Given the description of an element on the screen output the (x, y) to click on. 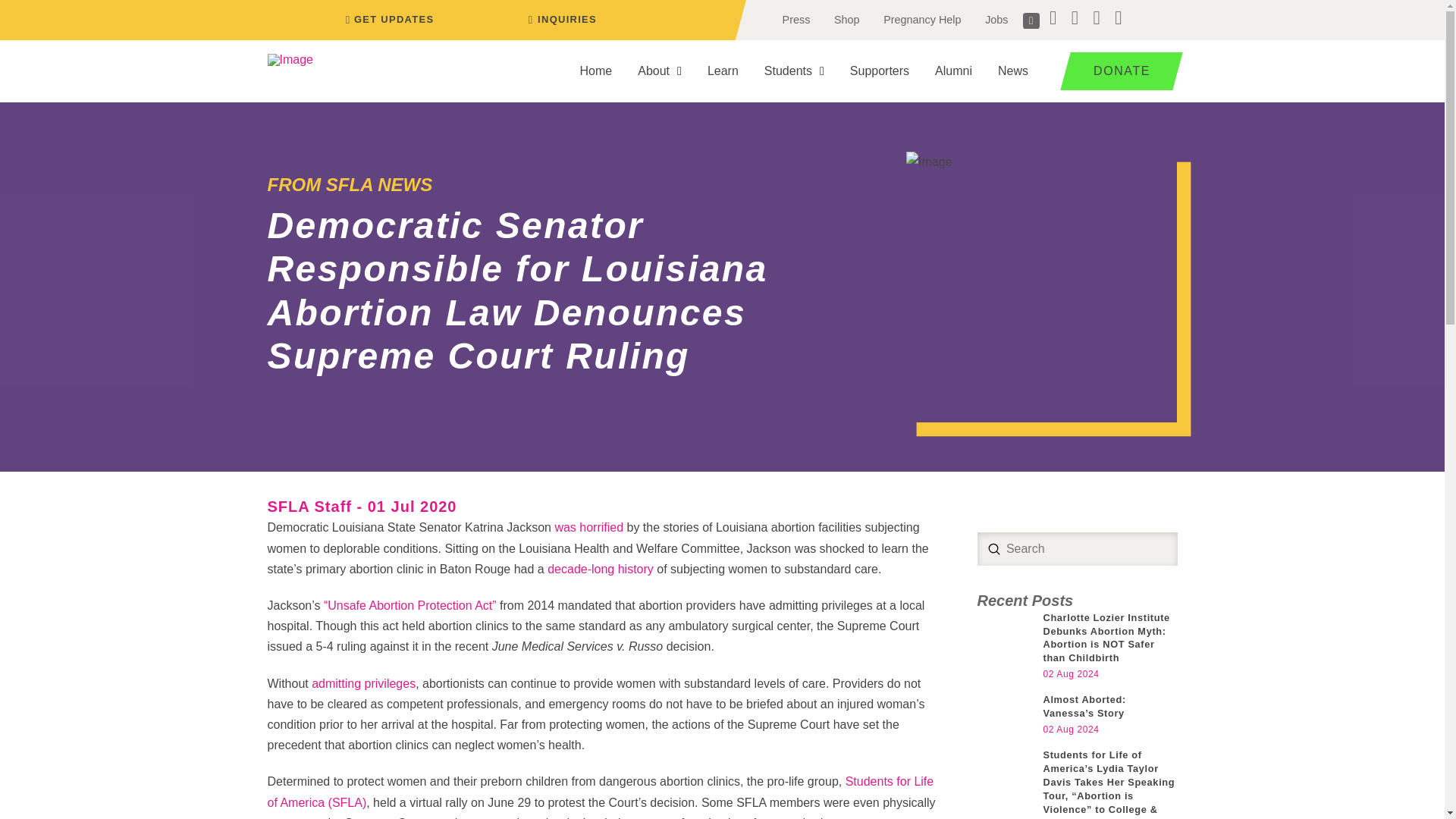
Alumni (953, 71)
was horrified (588, 526)
News (1013, 71)
Press (796, 20)
Shop (846, 20)
Students for Life of America (599, 791)
admitting privileges (362, 683)
Home (596, 71)
Learn (722, 71)
GET UPDATES (386, 20)
